Given the description of an element on the screen output the (x, y) to click on. 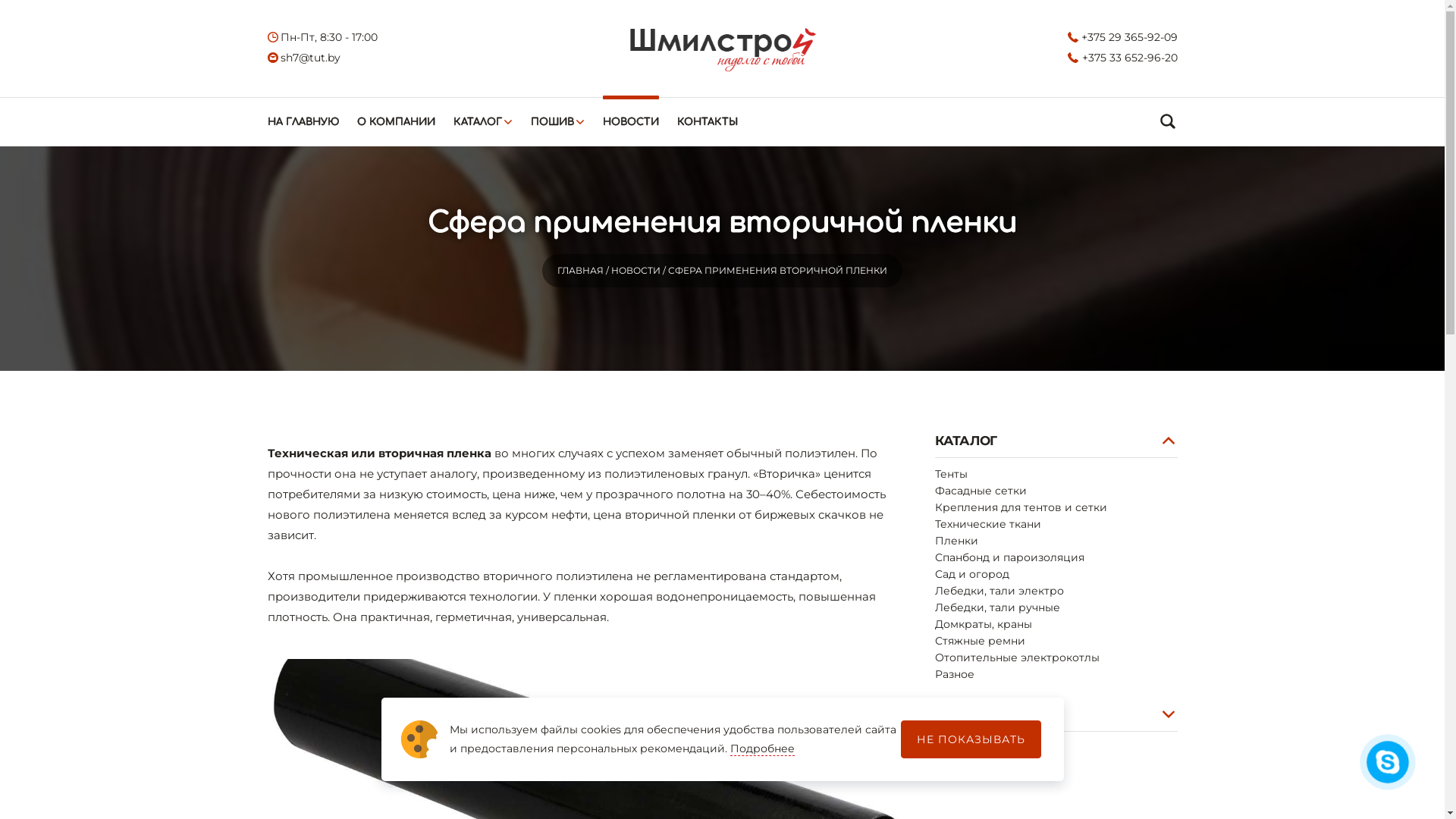
+375 29 365-92-09 Element type: text (1122, 36)
+375 33 652-96-20 Element type: text (1122, 57)
sh7@tut.by Element type: text (302, 57)
